Given the description of an element on the screen output the (x, y) to click on. 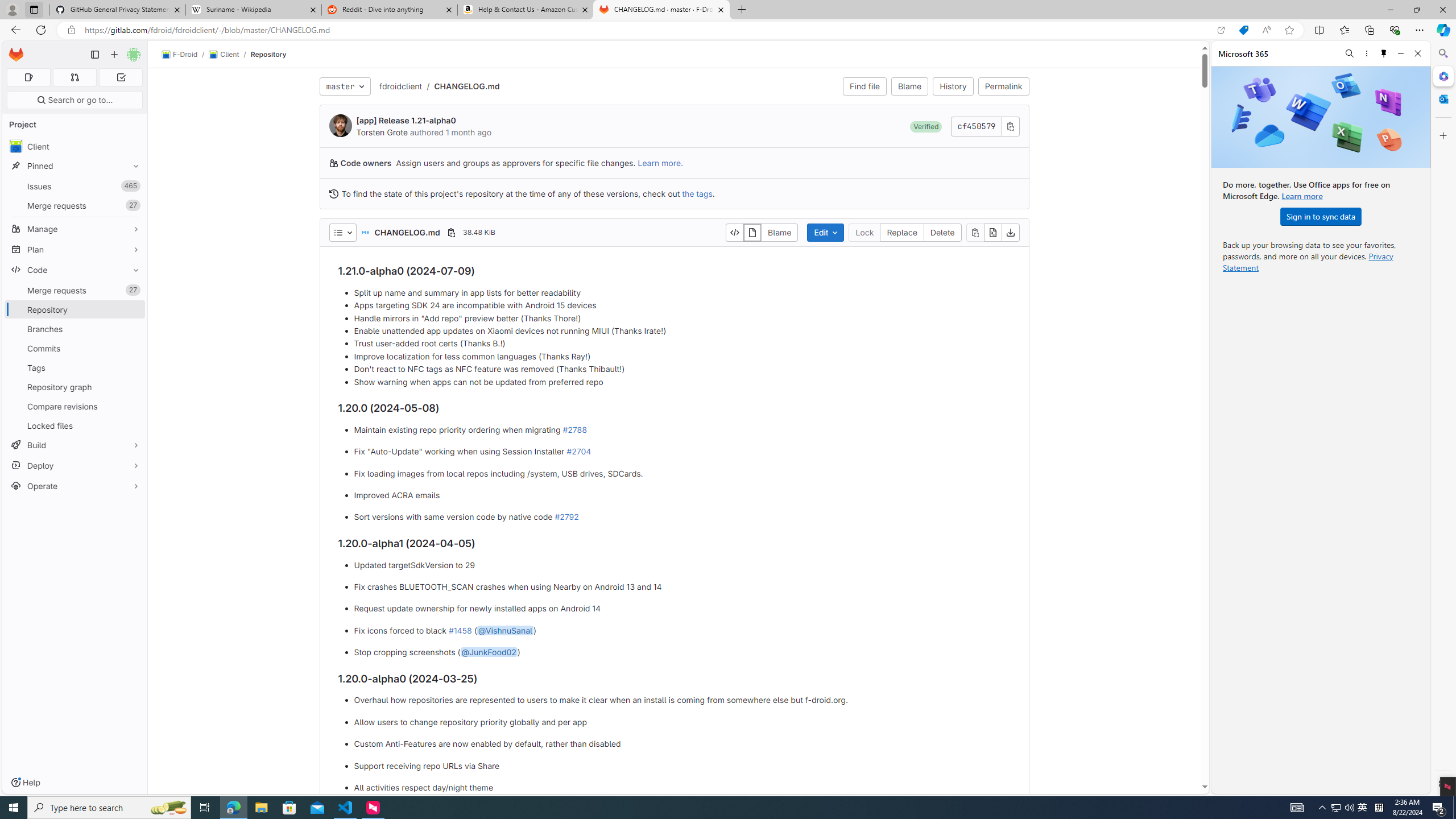
Manage (74, 228)
Locked files (74, 425)
Torsten Grote (381, 131)
Trust user-added root certs (Thanks B.!) (681, 343)
Merge requests27 (74, 289)
Class: s16 gl-mr-1 gl-align-text-bottom (333, 193)
master (344, 85)
